Given the description of an element on the screen output the (x, y) to click on. 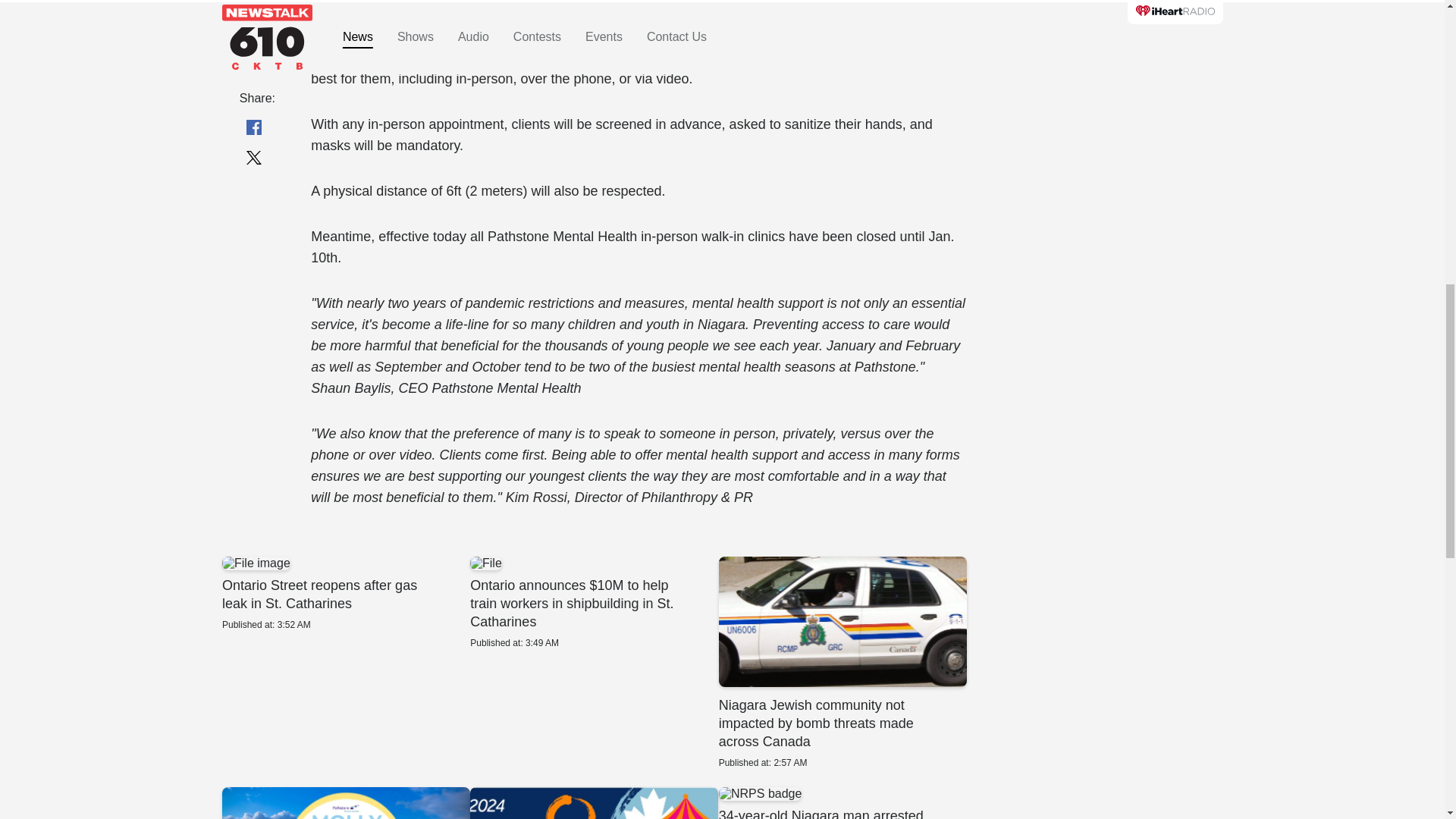
Ontario Street reopens after gas leak in St. Catharines (593, 803)
The Mega Worlds Fan Festival getting underway (344, 593)
